Given the description of an element on the screen output the (x, y) to click on. 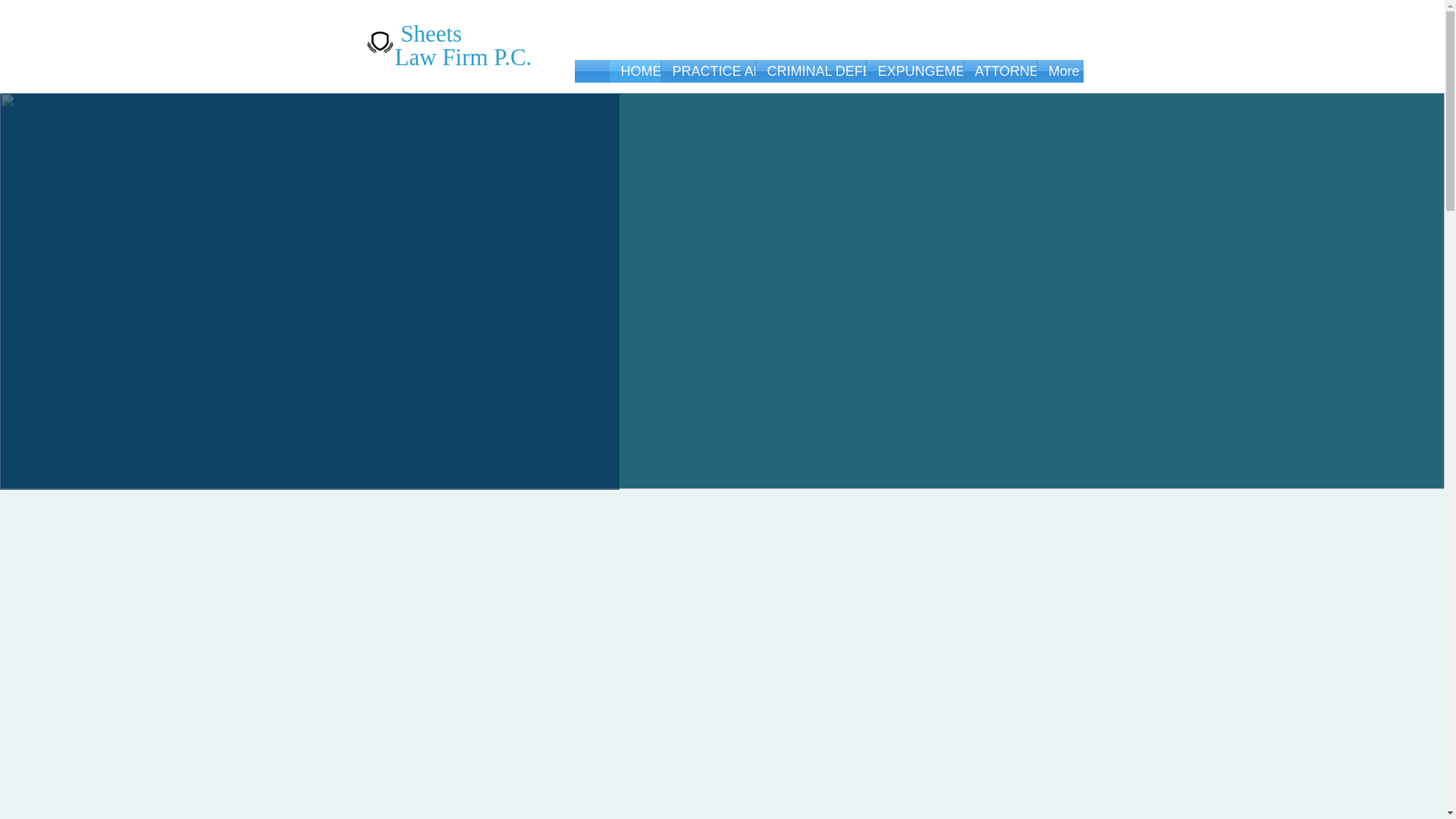
ATTORNEYS (998, 70)
PRACTICE AREAS (708, 70)
CRIMINAL DEFENSE (809, 70)
HOME (635, 70)
EXPUNGEMENTS (914, 70)
